Given the description of an element on the screen output the (x, y) to click on. 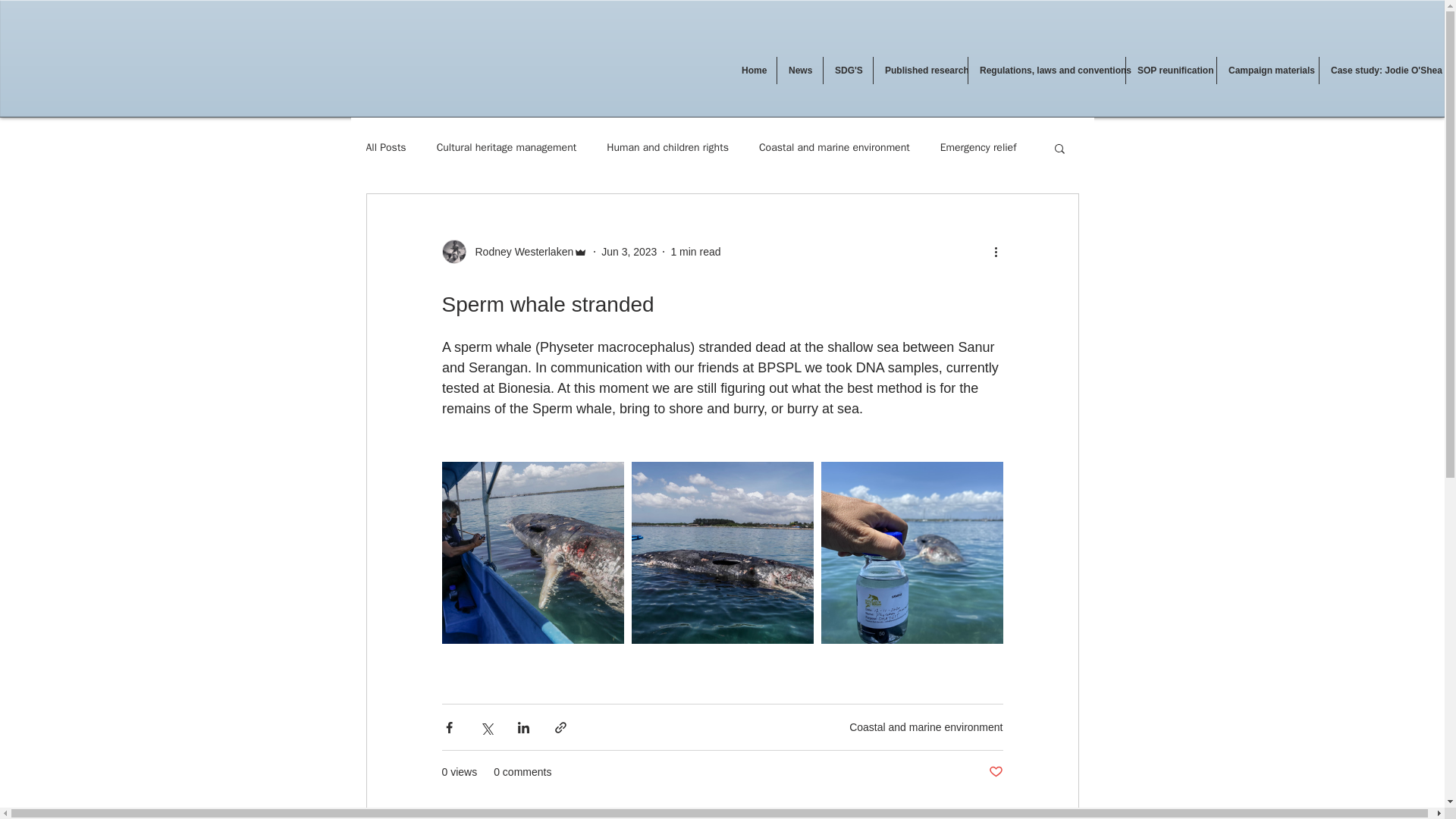
Home (753, 70)
Coastal and marine environment (925, 726)
Post not marked as liked (995, 772)
Emergency relief (978, 147)
1 min read (694, 251)
Rodney Westerlaken (519, 252)
Human and children rights (668, 147)
Regulations, laws and conventions (1046, 70)
Case study: Jodie O'Shea (1381, 70)
SDG'S (848, 70)
Coastal and marine environment (834, 147)
News (799, 70)
All Posts (385, 147)
Jun 3, 2023 (628, 251)
Rodney Westerlaken (514, 251)
